Given the description of an element on the screen output the (x, y) to click on. 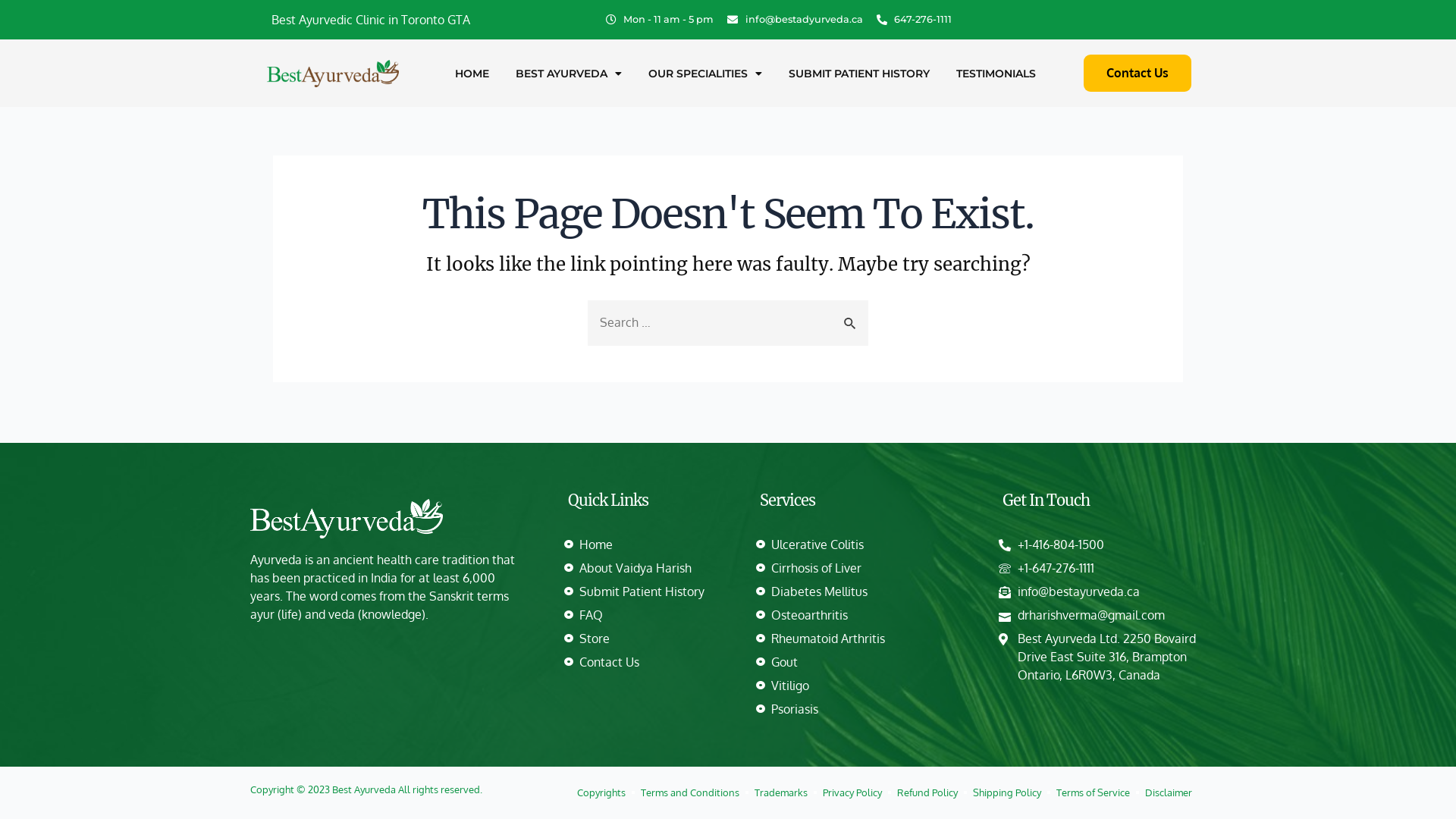
drharishverma@gmail.com Element type: text (1104, 614)
Vitiligo Element type: text (862, 685)
647-276-1111 Element type: text (914, 19)
Privacy Policy Element type: text (851, 792)
Terms of Service Element type: text (1092, 792)
BEST AYURVEDA Element type: text (568, 73)
Shipping Policy Element type: text (1006, 792)
Refund Policy Element type: text (927, 792)
Terms and Conditions Element type: text (689, 792)
Gout Element type: text (862, 661)
Rheumatoid Arthritis Element type: text (862, 638)
Diabetes Mellitus Element type: text (862, 591)
Copyrights Element type: text (601, 792)
Disclaimer Element type: text (1168, 792)
HOME Element type: text (471, 73)
Psoriasis Element type: text (862, 708)
+1-647-276-1111 Element type: text (1104, 567)
About Vaidya Harish Element type: text (644, 567)
Cirrhosis of Liver Element type: text (862, 567)
Osteoarthritis Element type: text (862, 614)
Contact Us Element type: text (1137, 72)
Search Element type: text (851, 317)
FAQ Element type: text (644, 614)
OUR SPECIALITIES Element type: text (705, 73)
Home Element type: text (644, 544)
TESTIMONIALS Element type: text (996, 73)
+1-416-804-1500 Element type: text (1104, 544)
Trademarks Element type: text (780, 792)
Store Element type: text (644, 638)
info@bestadyurveda.ca Element type: text (794, 19)
info@bestayurveda.ca Element type: text (1104, 591)
SUBMIT PATIENT HISTORY Element type: text (858, 73)
Ulcerative Colitis Element type: text (862, 544)
Submit Patient History Element type: text (644, 591)
Contact Us Element type: text (644, 661)
